Given the description of an element on the screen output the (x, y) to click on. 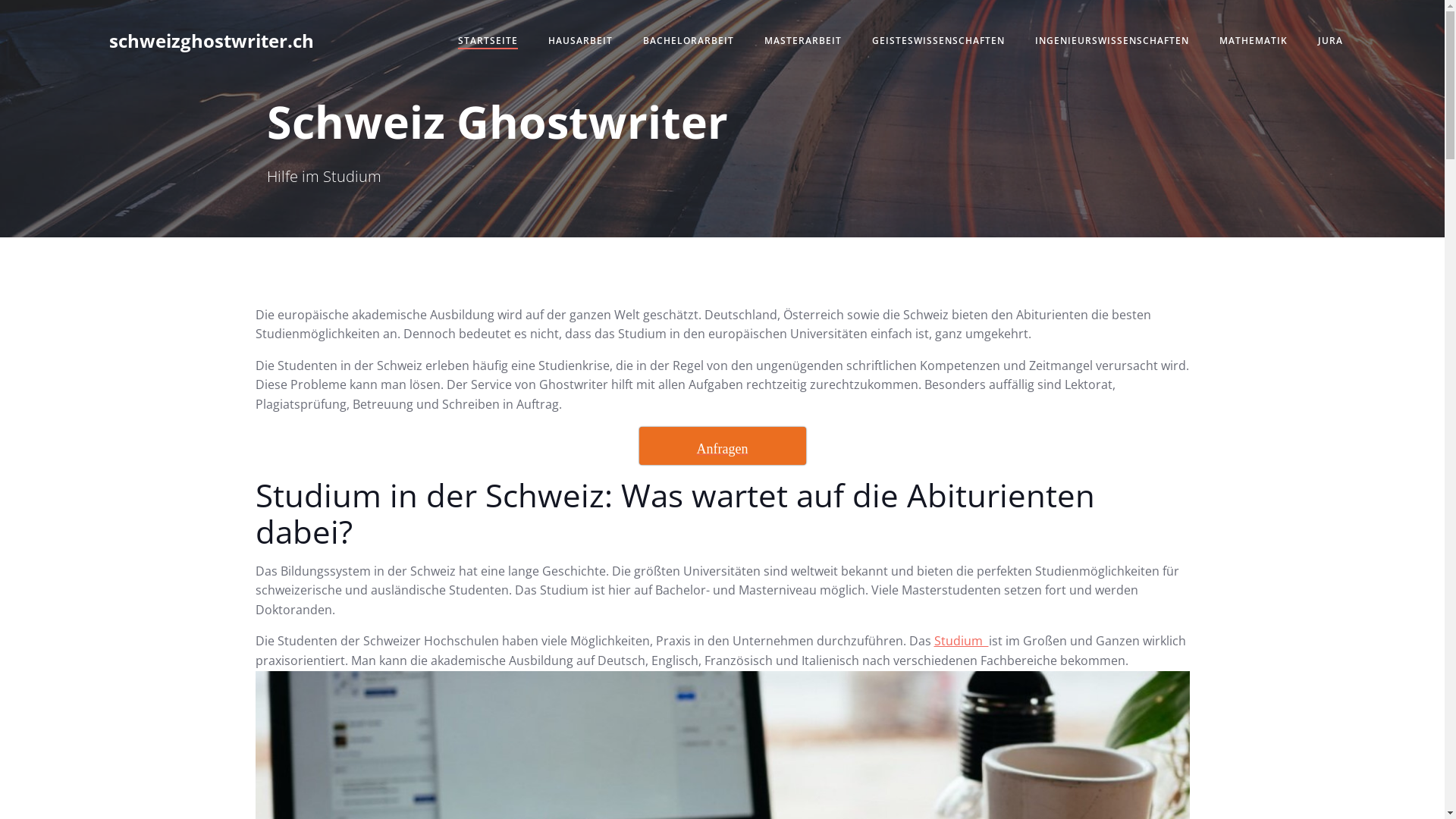
INGENIEURSWISSENSCHAFTEN Element type: text (1112, 40)
HAUSARBEIT Element type: text (580, 40)
MASTERARBEIT Element type: text (802, 40)
Anfragen Element type: text (721, 445)
JURA Element type: text (1330, 40)
Studium   Element type: text (961, 640)
GEISTESWISSENSCHAFTEN Element type: text (938, 40)
schweizghostwriter.ch Element type: text (211, 40)
STARTSEITE Element type: text (487, 40)
BACHELORARBEIT Element type: text (688, 40)
MATHEMATIK Element type: text (1253, 40)
